Given the description of an element on the screen output the (x, y) to click on. 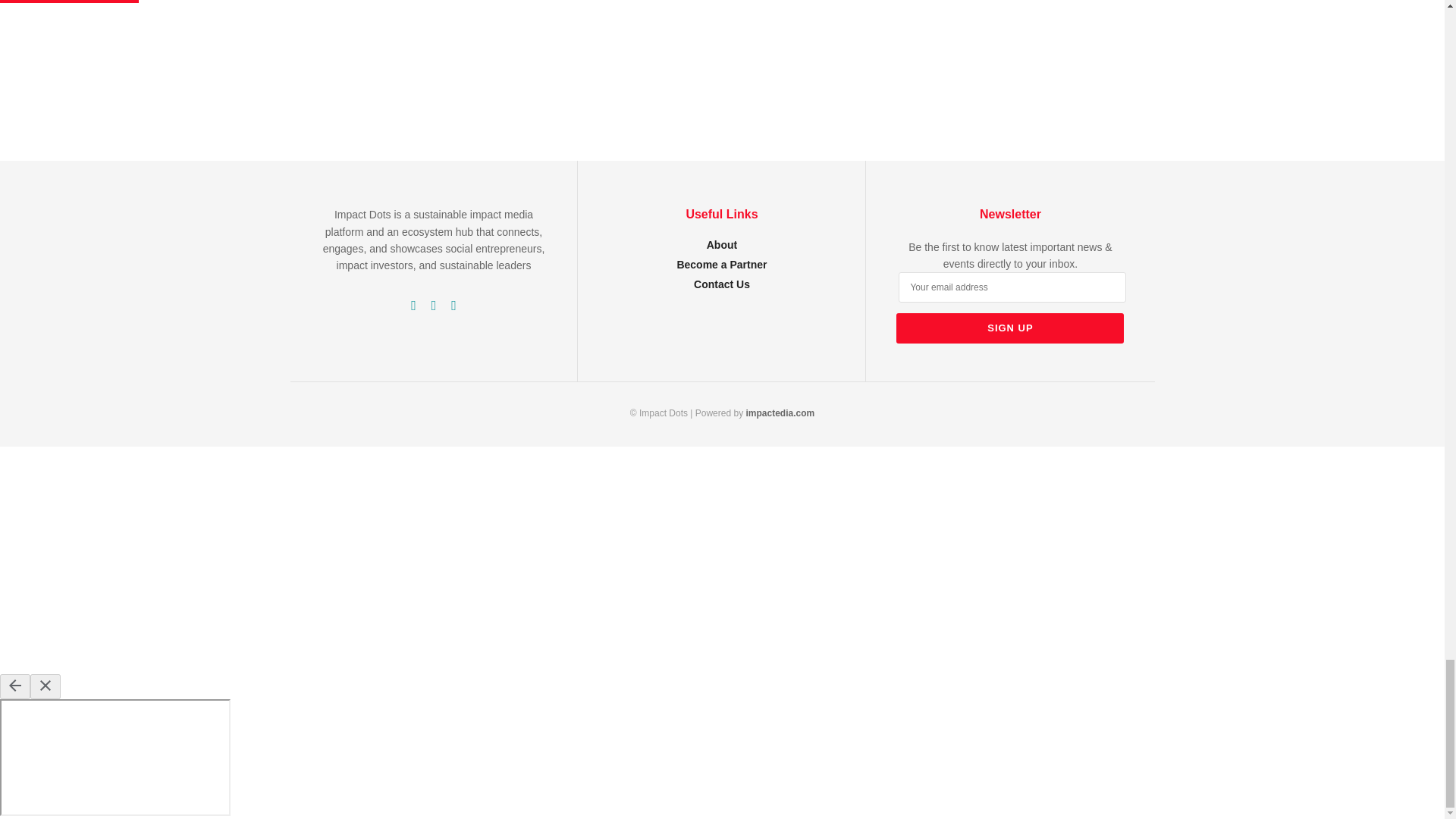
Sign up (1010, 327)
